Given the description of an element on the screen output the (x, y) to click on. 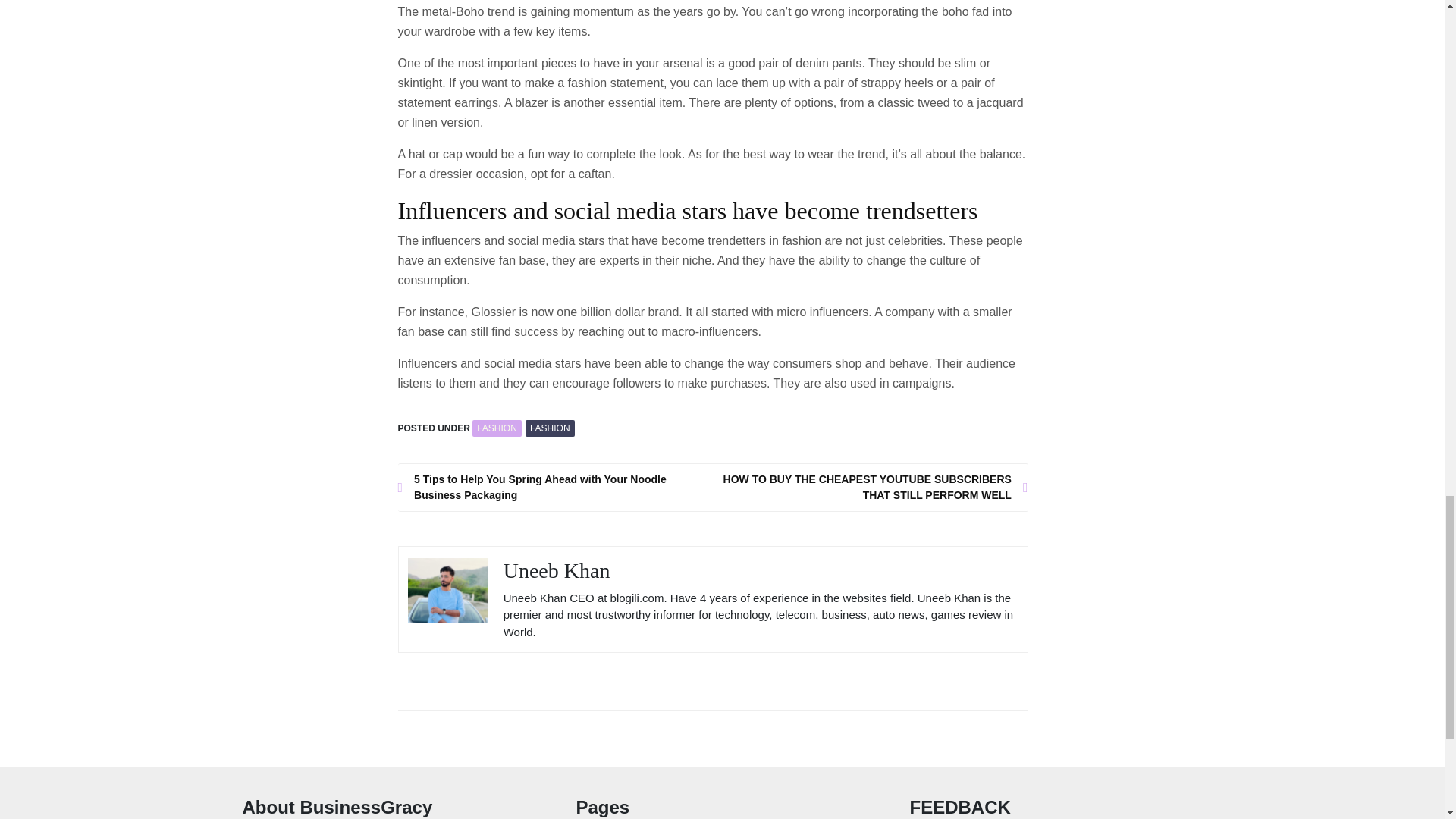
FASHION (496, 428)
FASHION (550, 428)
